Given the description of an element on the screen output the (x, y) to click on. 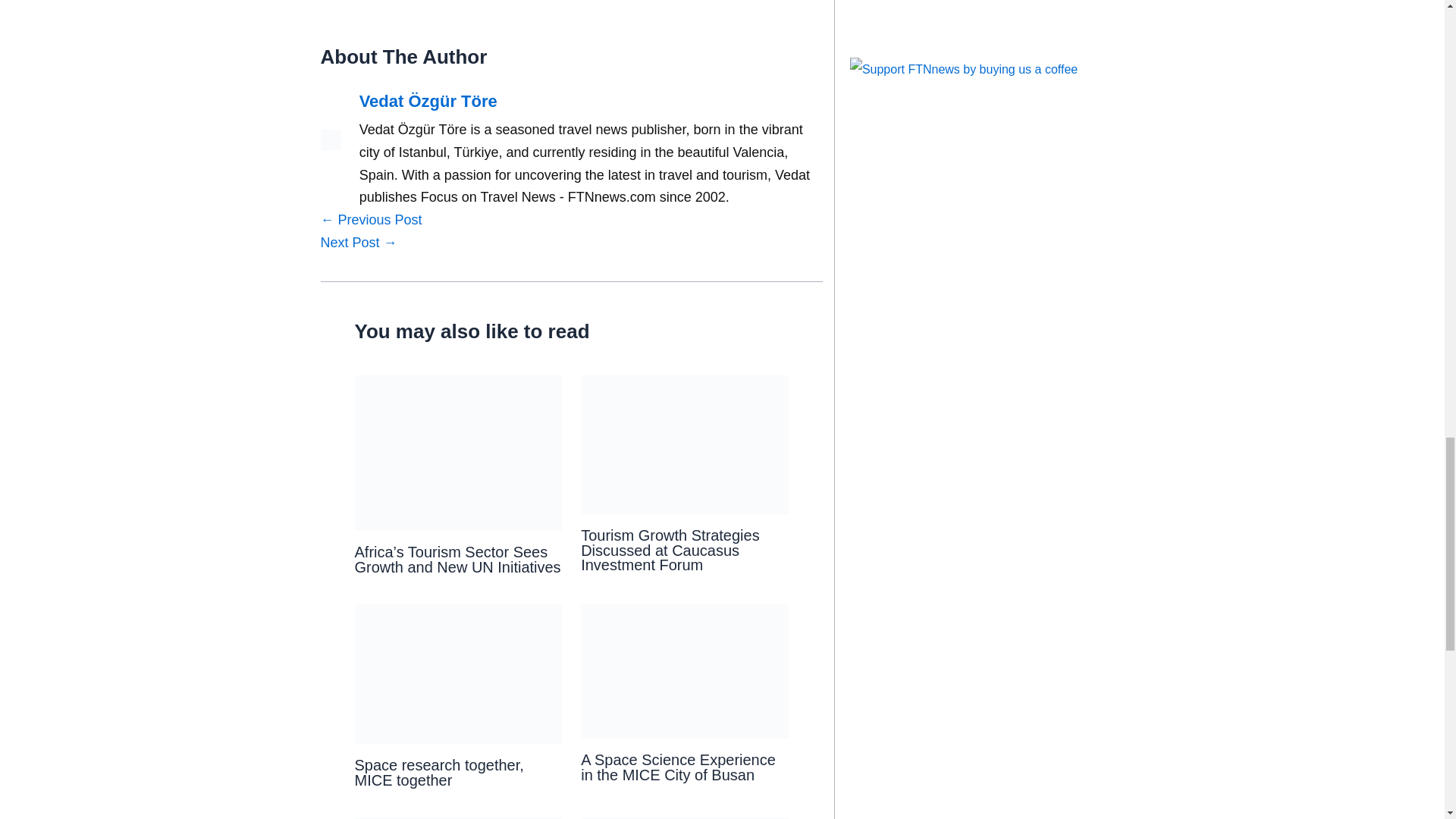
Uzbekistan Hosted World Society for the Study Congress 2021 (371, 219)
Dusit to Manage New Deluxe Hotel in Chuxiong, China (358, 242)
